Given the description of an element on the screen output the (x, y) to click on. 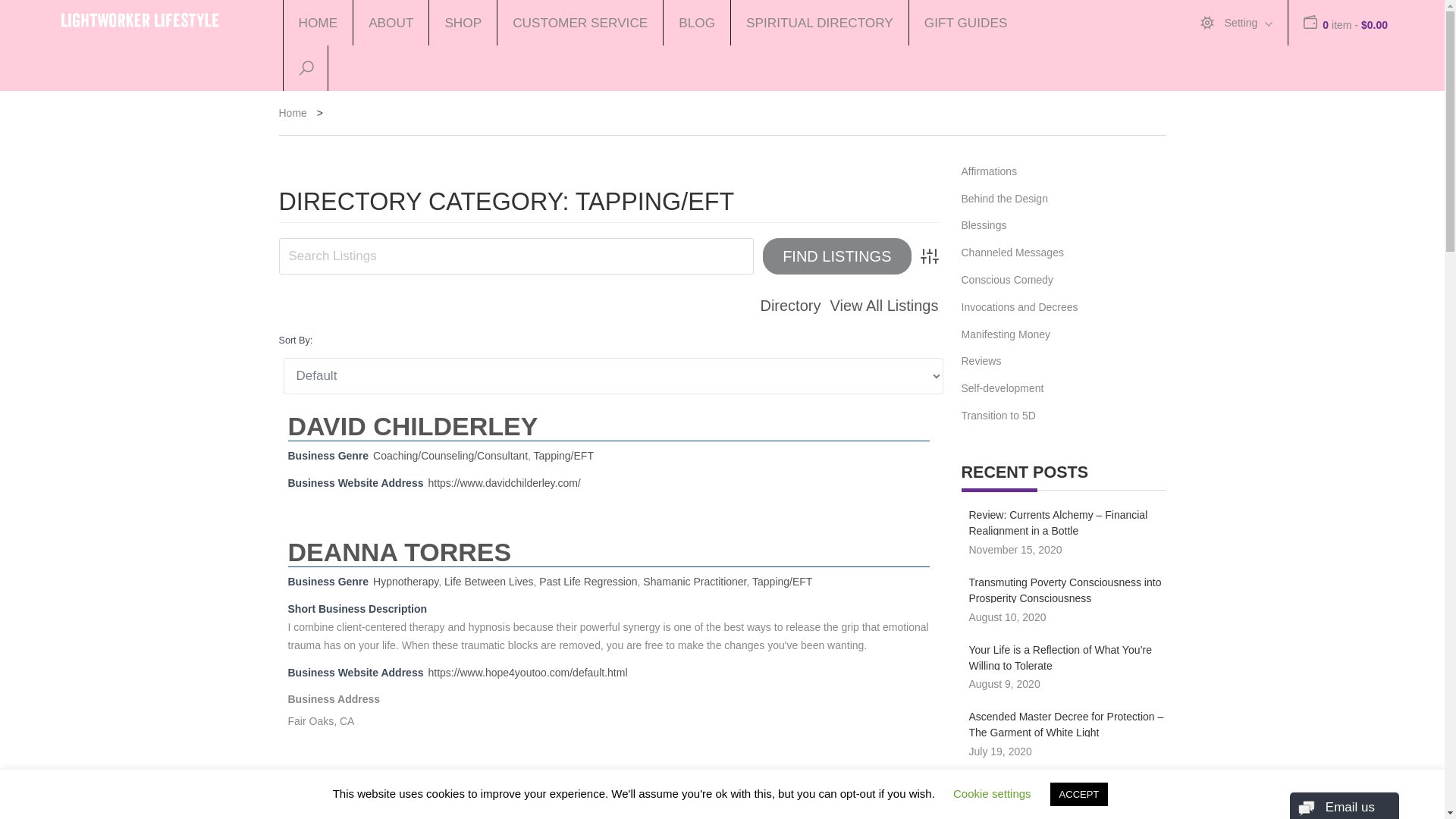
SHOP (462, 22)
Log In (1126, 232)
ABOUT (390, 22)
HOME (317, 22)
Home (293, 113)
Quick search keywords (516, 256)
Home (293, 113)
SPIRITUAL DIRECTORY (819, 22)
GIFT GUIDES (965, 22)
Lightworker Lifestyle (140, 16)
CUSTOMER SERVICE (579, 22)
Find Listings (836, 256)
BLOG (696, 22)
View my shopping cart (1354, 25)
My setting (1240, 22)
